Given the description of an element on the screen output the (x, y) to click on. 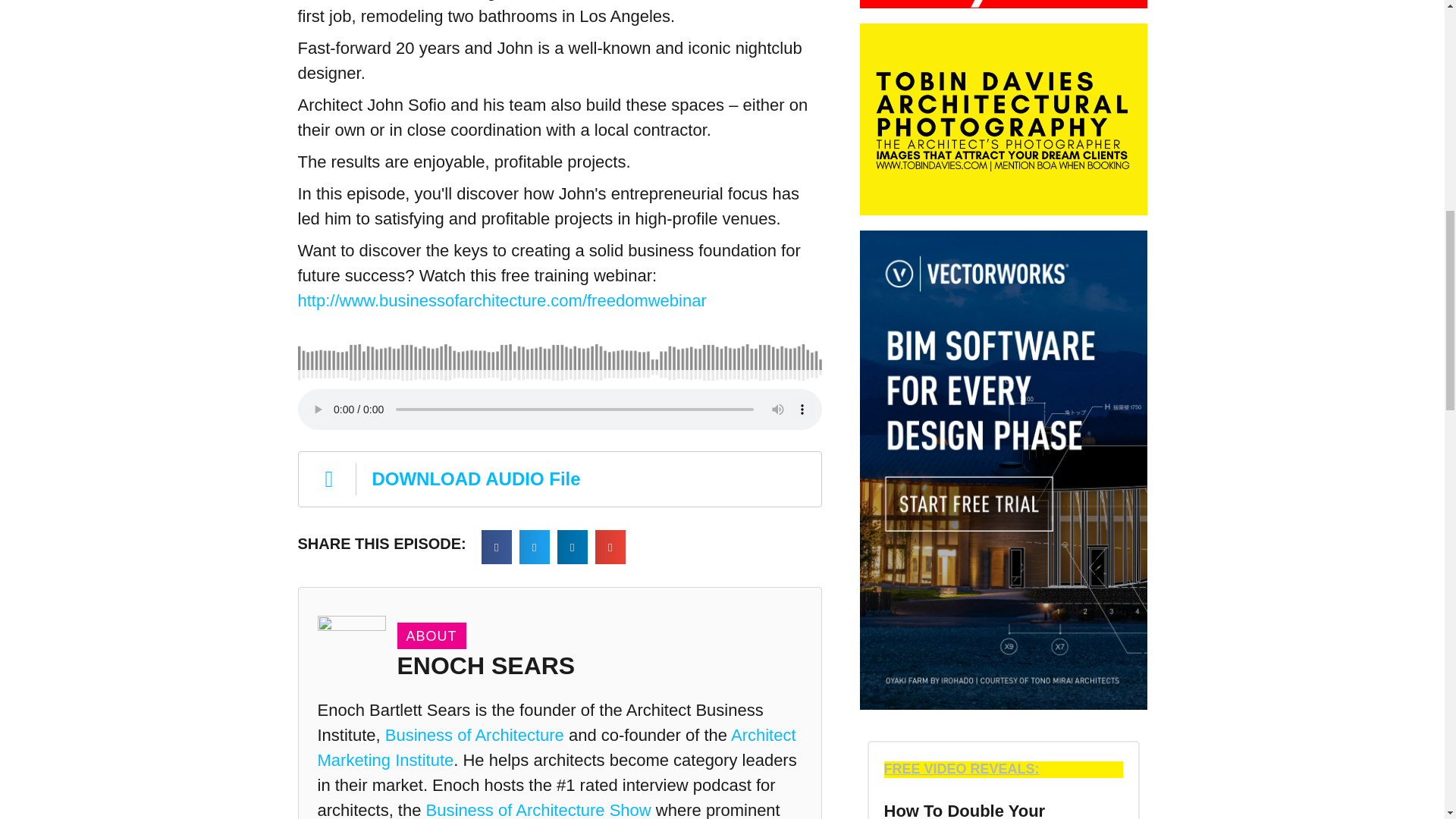
DOWNLOAD AUDIO File (559, 478)
Business of Architecture (474, 734)
Business of Architecture Show (538, 809)
Architect Marketing Institute (555, 747)
